Given the description of an element on the screen output the (x, y) to click on. 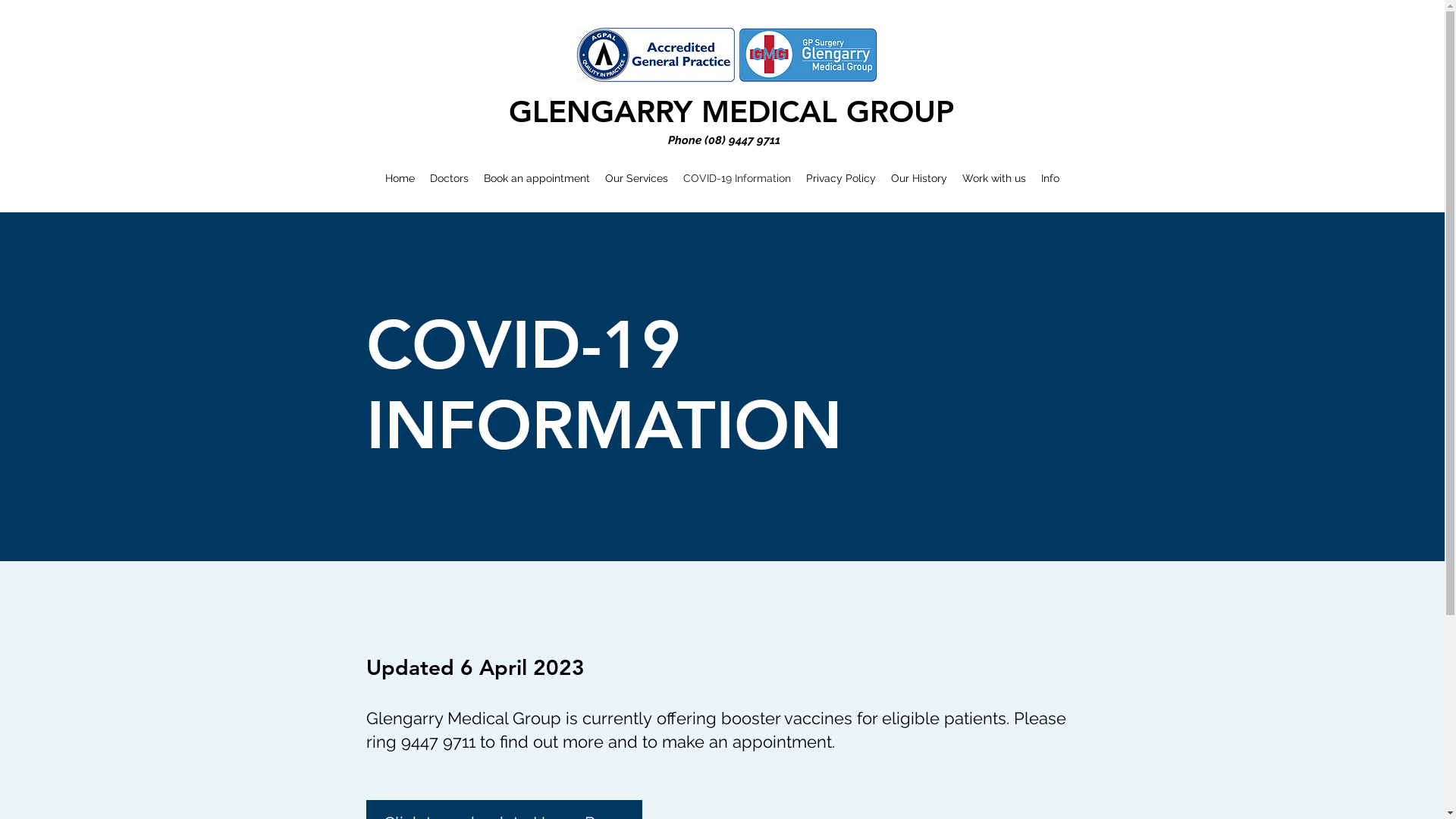
Our History Element type: text (918, 177)
Book an appointment Element type: text (536, 177)
Our Services Element type: text (636, 177)
Info Element type: text (1049, 177)
COVID-19 Information Element type: text (736, 177)
Privacy Policy Element type: text (840, 177)
GLENGARRY MEDICAL GROUP Element type: text (730, 111)
Home Element type: text (399, 177)
Doctors Element type: text (449, 177)
Work with us Element type: text (993, 177)
